Given the description of an element on the screen output the (x, y) to click on. 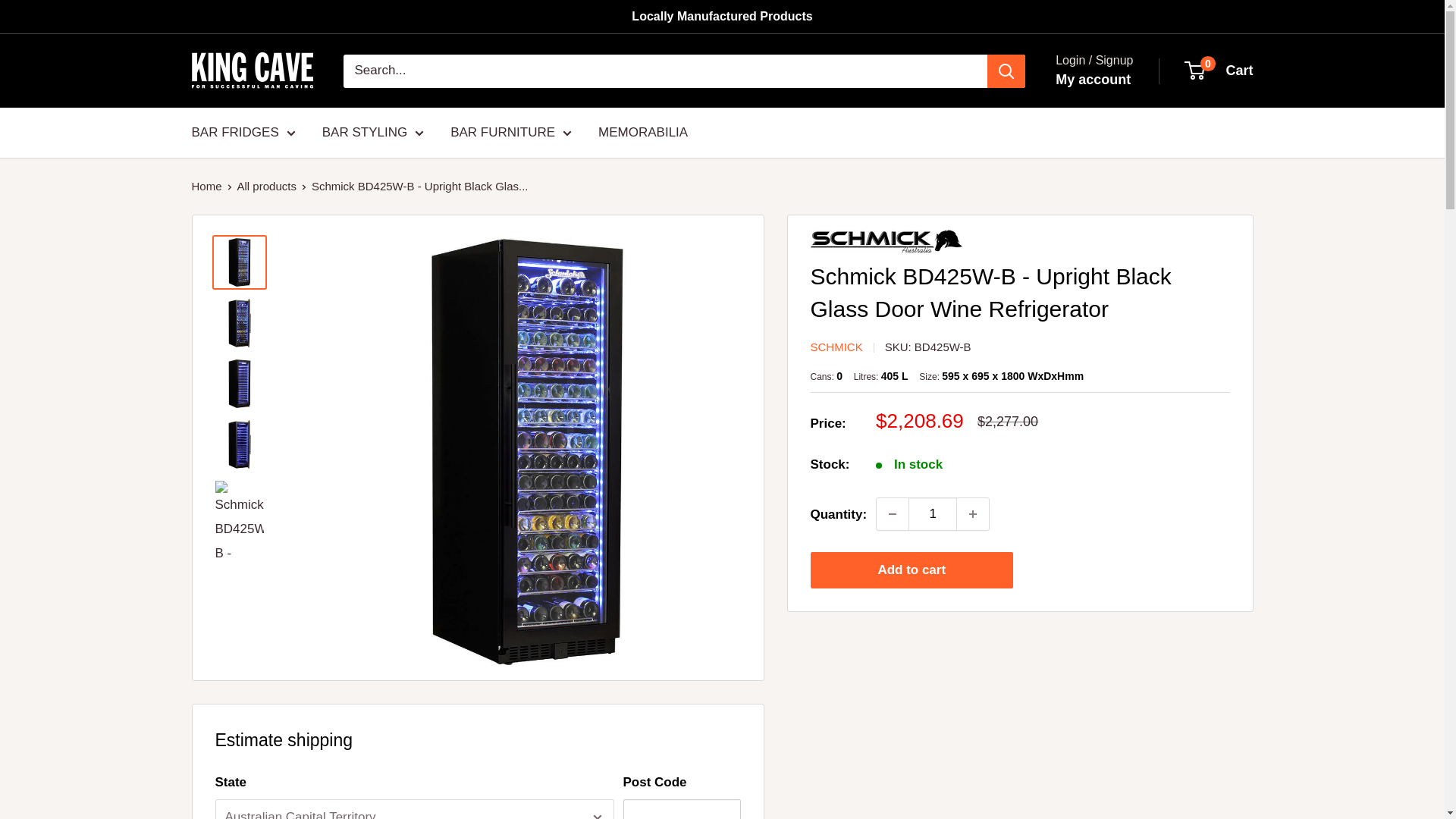
KING CAVE (251, 70)
1 (932, 513)
Decrease quantity by 1 (892, 513)
Locally Manufactured Products (721, 16)
My account (1093, 80)
BAR FRIDGES (242, 132)
Increase quantity by 1 (972, 513)
